Given the description of an element on the screen output the (x, y) to click on. 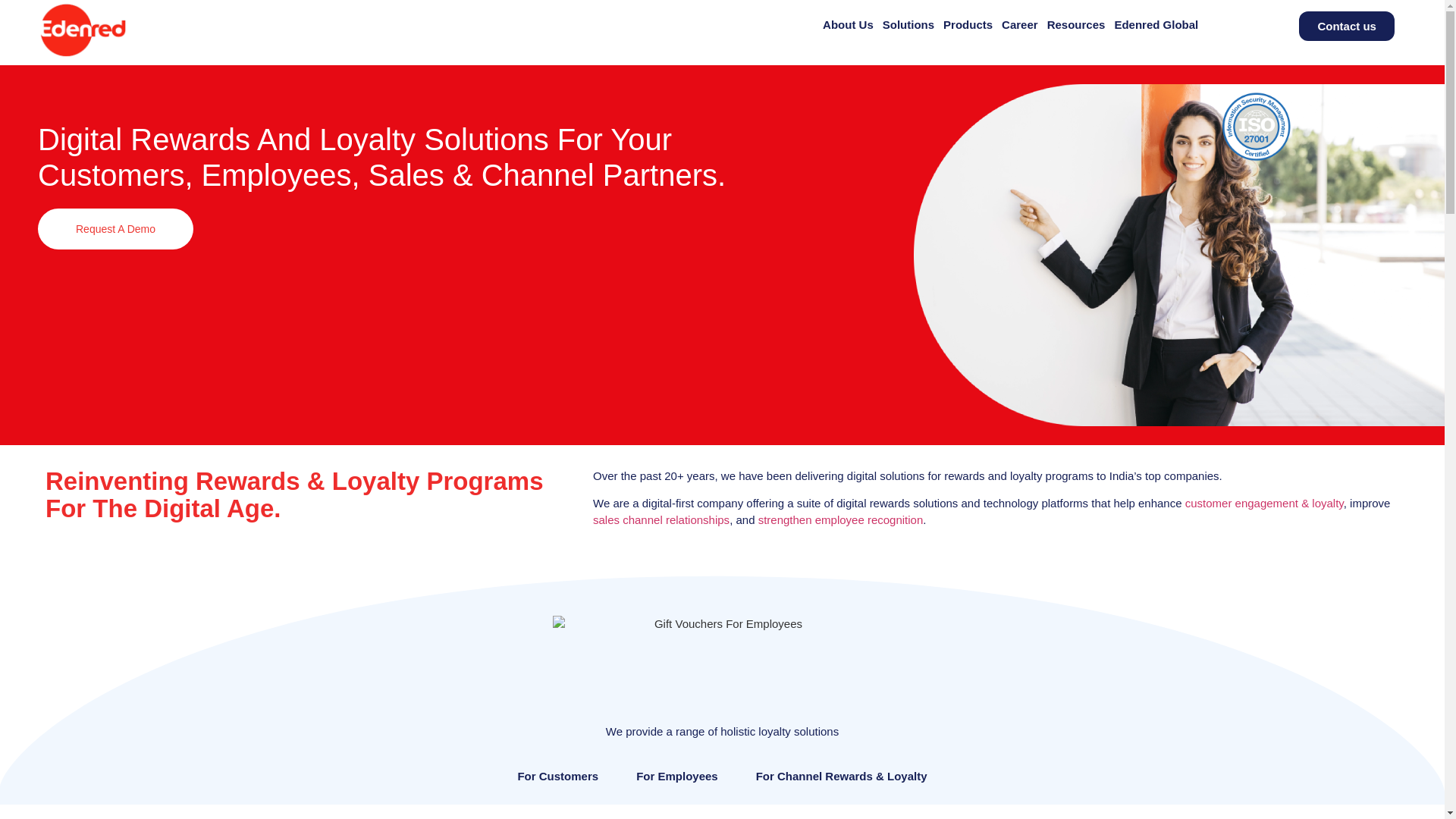
Products (968, 24)
About Us (847, 24)
Solutions (908, 24)
Sales Channel Loyalty Programs (660, 519)
Career (1019, 24)
Customer Loyalty Programs (1264, 502)
Resources (1075, 24)
Edenred Global (1155, 24)
